Given the description of an element on the screen output the (x, y) to click on. 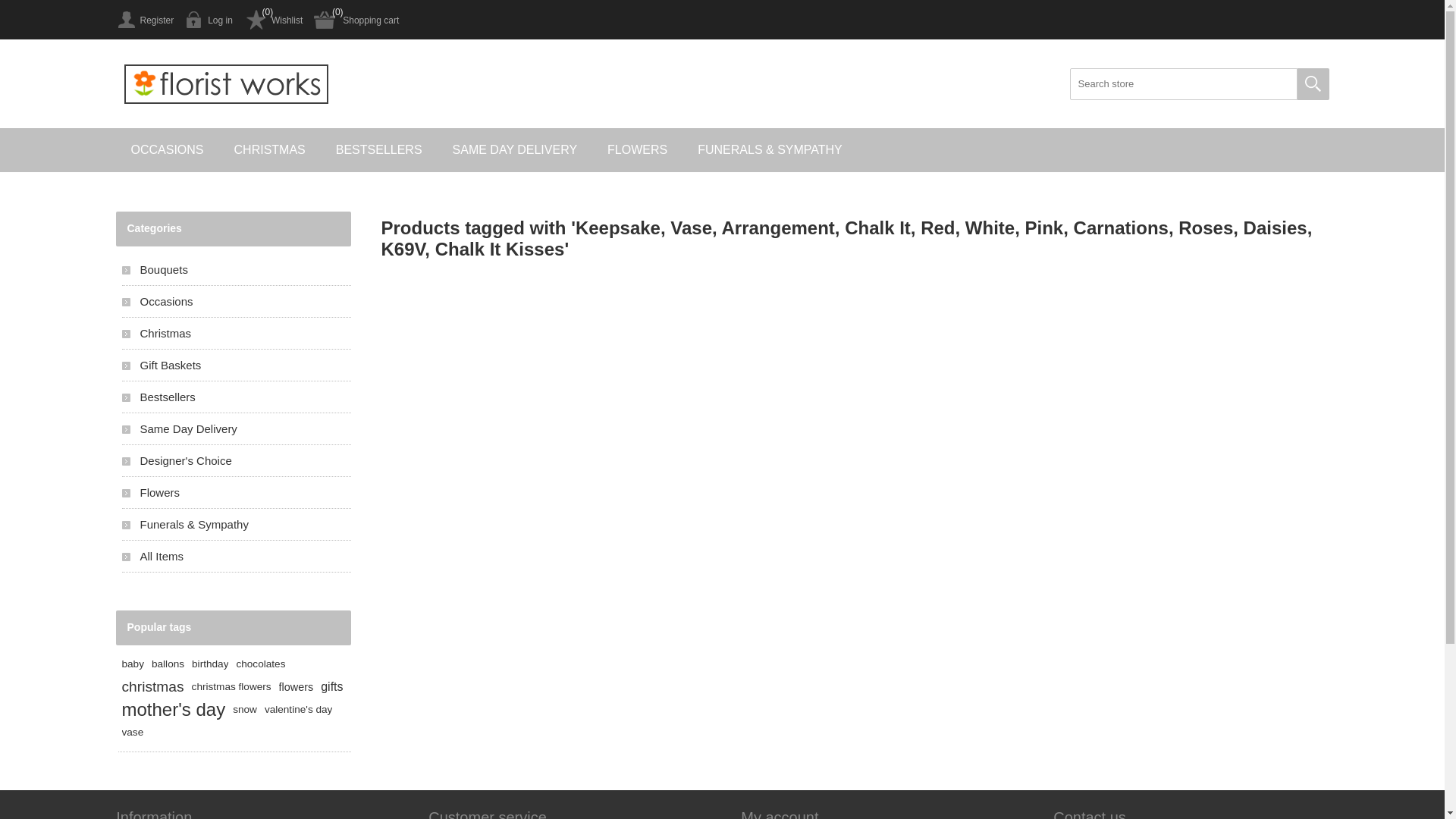
Shopping cart Element type: text (355, 19)
Flowers Element type: text (235, 492)
vase Element type: text (132, 732)
chocolates Element type: text (260, 663)
Register Element type: text (144, 19)
gifts Element type: text (331, 686)
valentine's day Element type: text (298, 709)
Occasions Element type: text (235, 300)
Log in Element type: text (208, 19)
Wishlist Element type: text (273, 19)
Bouquets Element type: text (235, 269)
ballons Element type: text (167, 663)
OCCASIONS Element type: text (166, 150)
Designer's Choice Element type: text (235, 460)
FLOWERS Element type: text (637, 150)
Search Element type: text (1312, 84)
birthday Element type: text (209, 663)
Christmas Element type: text (235, 332)
snow Element type: text (244, 709)
BESTSELLERS Element type: text (378, 150)
mother's day Element type: text (173, 709)
All Items Element type: text (235, 555)
christmas Element type: text (152, 686)
SAME DAY DELIVERY Element type: text (515, 150)
Funerals & Sympathy Element type: text (235, 523)
Same Day Delivery Element type: text (235, 428)
Bestsellers Element type: text (235, 396)
FUNERALS & SYMPATHY Element type: text (769, 150)
baby Element type: text (132, 663)
christmas flowers Element type: text (231, 686)
flowers Element type: text (296, 686)
Gift Baskets Element type: text (235, 364)
CHRISTMAS Element type: text (269, 150)
